Given the description of an element on the screen output the (x, y) to click on. 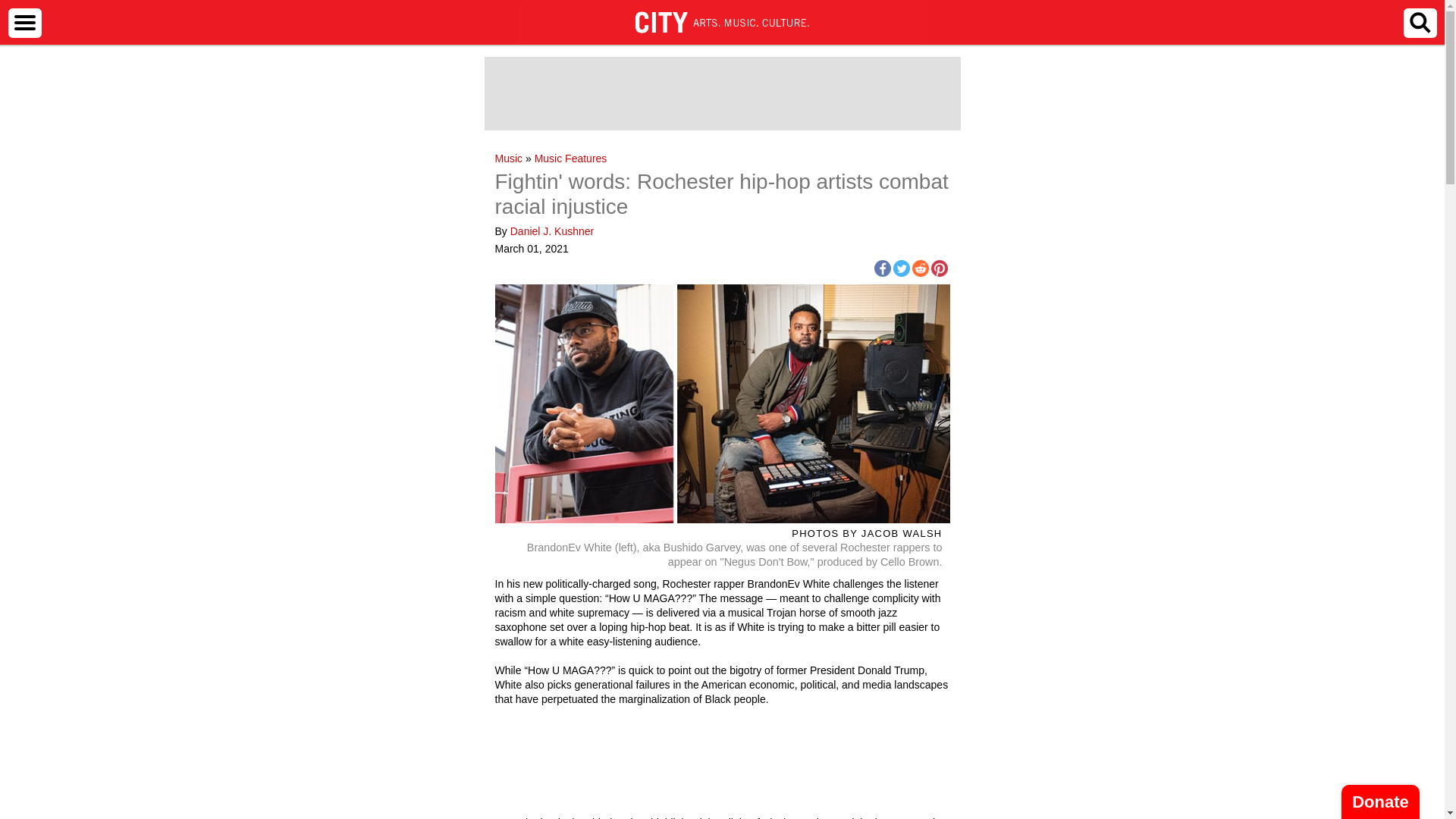
Music Features (570, 158)
Music (508, 158)
MENU (23, 22)
Pinterest (939, 268)
Twitter (901, 268)
Facebook (881, 268)
3rd party ad content (721, 93)
Reddit (919, 268)
SEARCH (1419, 22)
Daniel J. Kushner (552, 231)
